Given the description of an element on the screen output the (x, y) to click on. 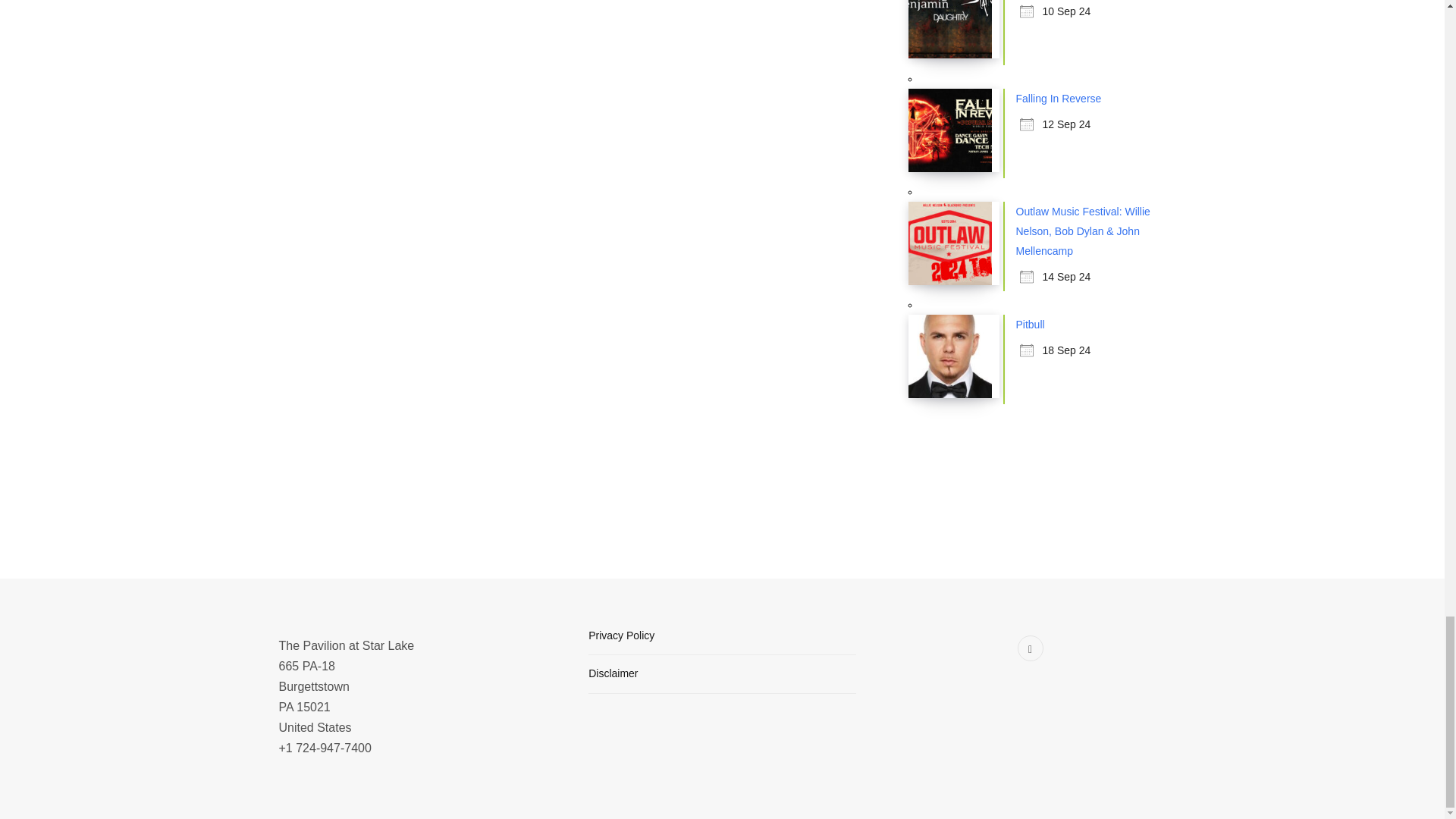
Pitbull (1030, 324)
Disclaimer (612, 673)
Privacy Policy (620, 635)
Falling In Reverse (1059, 98)
